Given the description of an element on the screen output the (x, y) to click on. 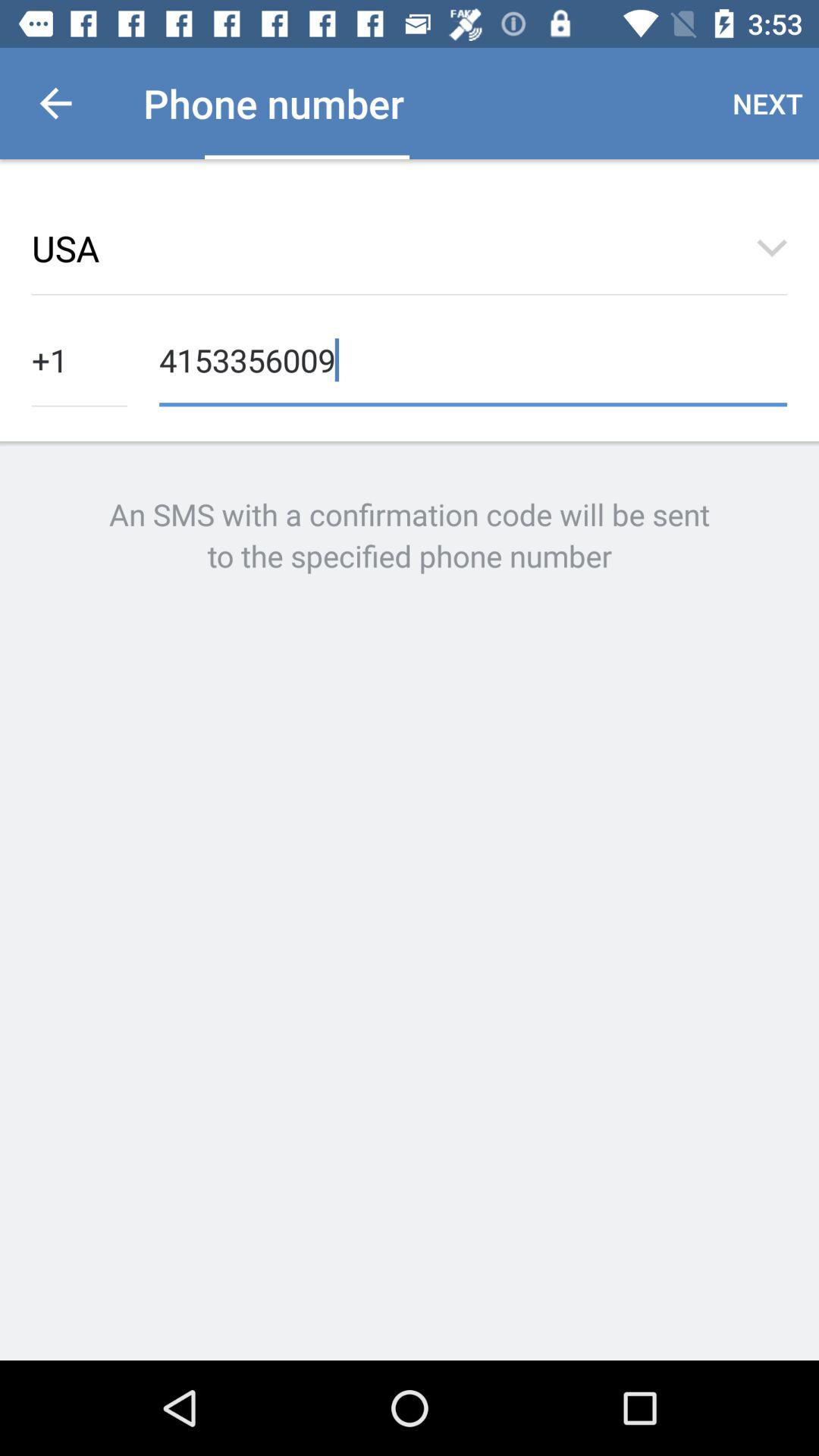
turn off next (767, 103)
